Given the description of an element on the screen output the (x, y) to click on. 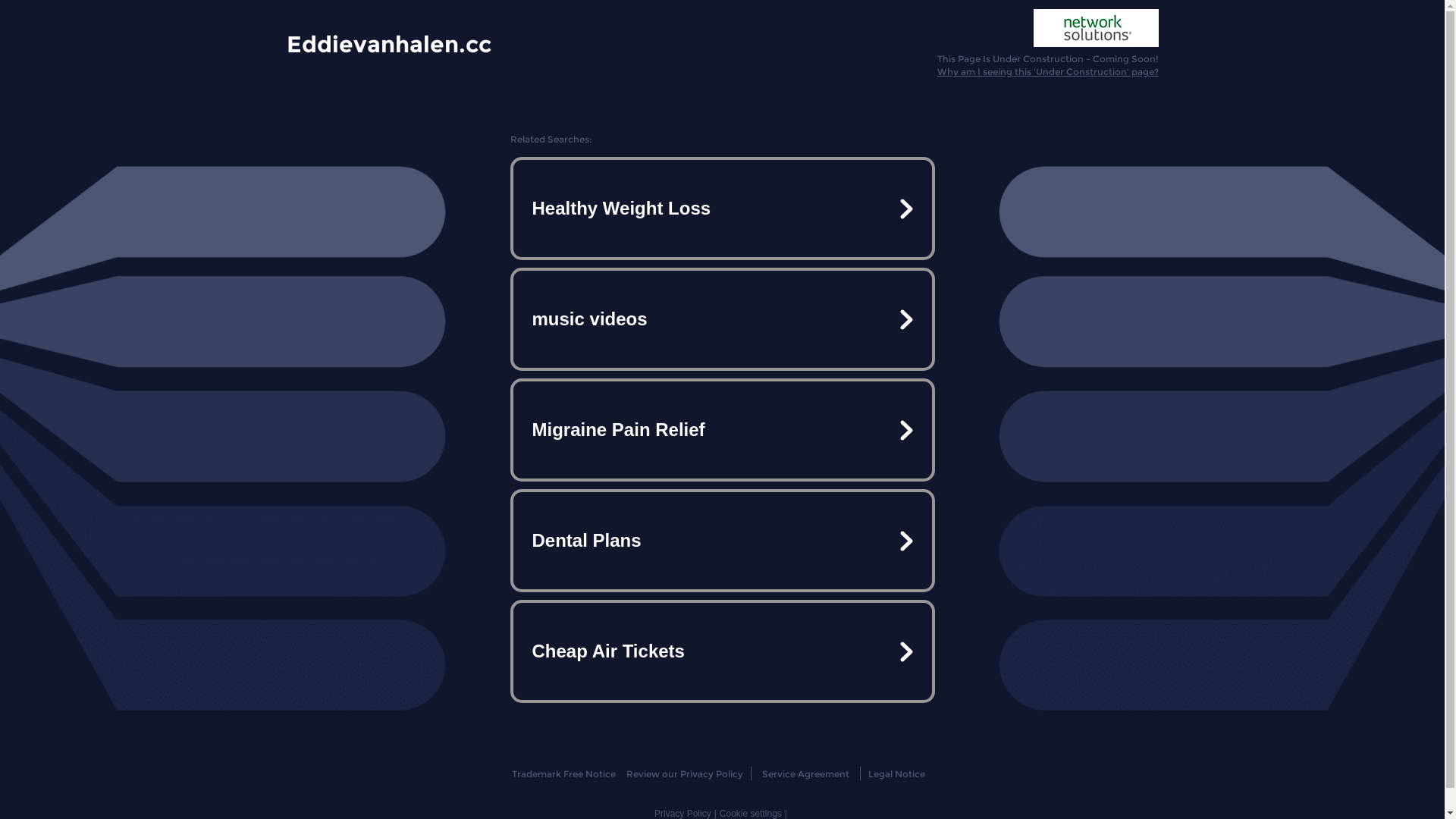
Dental Plans Element type: text (721, 540)
Review our Privacy Policy Element type: text (684, 773)
Healthy Weight Loss Element type: text (721, 208)
Cheap Air Tickets Element type: text (721, 650)
Trademark Free Notice Element type: text (563, 773)
Why am I seeing this 'Under Construction' page? Element type: text (1047, 71)
Legal Notice Element type: text (896, 773)
music videos Element type: text (721, 318)
Migraine Pain Relief Element type: text (721, 429)
Eddievanhalen.cc Element type: text (388, 43)
Service Agreement Element type: text (805, 773)
